Given the description of an element on the screen output the (x, y) to click on. 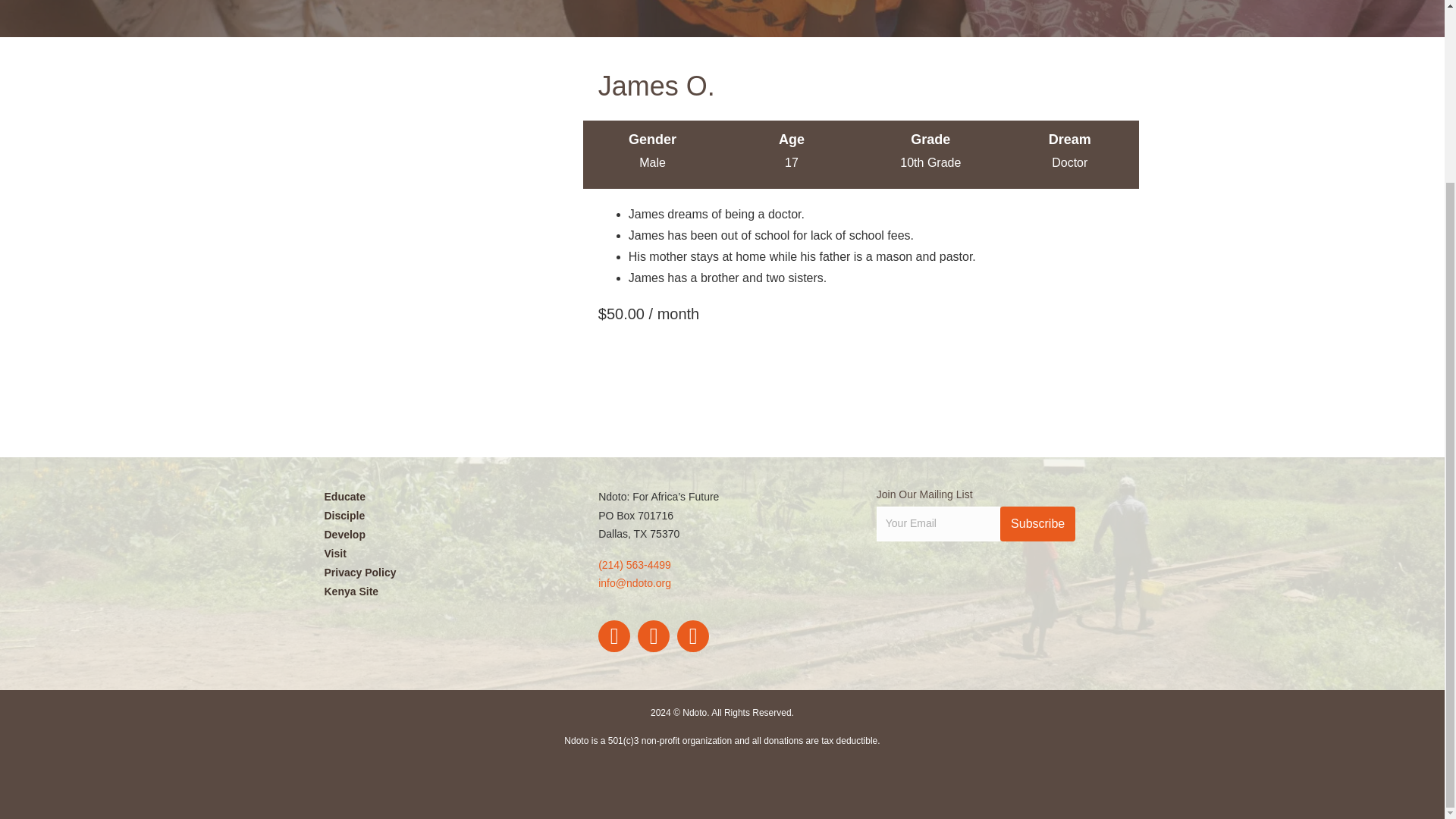
Visit (443, 553)
Disciple (443, 515)
Kenya Site (443, 591)
Click Here (1037, 523)
Educate (443, 496)
Subscribe (1037, 523)
Guidestar Certification (972, 584)
Privacy Policy (443, 572)
Develop (443, 534)
